Given the description of an element on the screen output the (x, y) to click on. 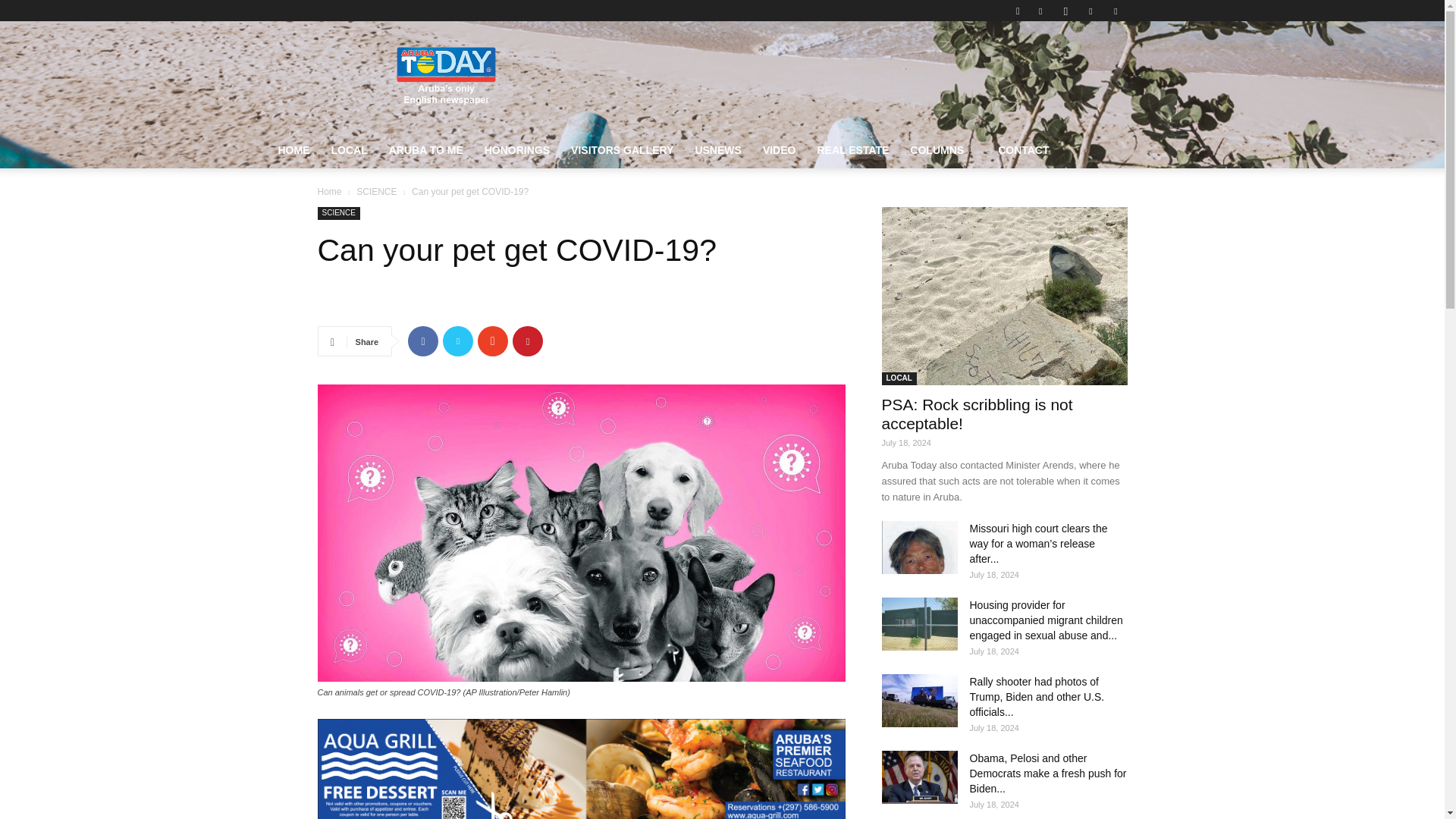
Mail (1090, 10)
VIDEO (779, 149)
ARUBA TO ME (426, 149)
LOCAL (348, 149)
HONORINGS (517, 149)
HOME (293, 149)
Facebook (1040, 10)
Youtube (1114, 10)
Instagram (1065, 10)
VISITORS GALLERY (622, 149)
View all posts in SCIENCE (376, 191)
USNEWS (717, 149)
Search (1085, 64)
